Given the description of an element on the screen output the (x, y) to click on. 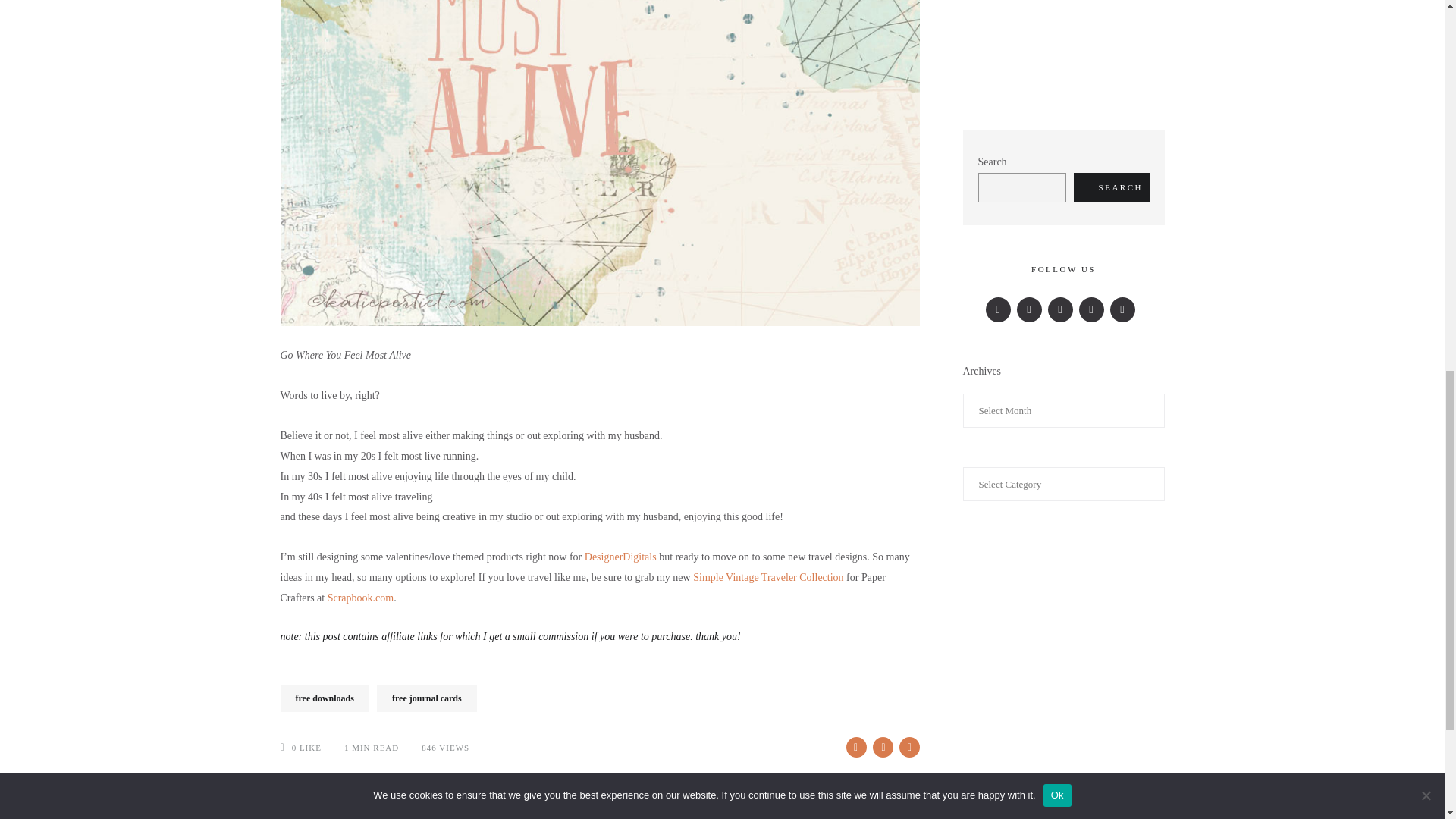
Share to Twitter (882, 747)
DesignerDigitals (620, 556)
free downloads (325, 697)
I like this (286, 747)
Share to Pinterest (909, 747)
Share to Facebook (855, 747)
Scrapbook.com (360, 597)
free journal cards (427, 697)
Simple Vintage Traveler Collection (768, 577)
